Given the description of an element on the screen output the (x, y) to click on. 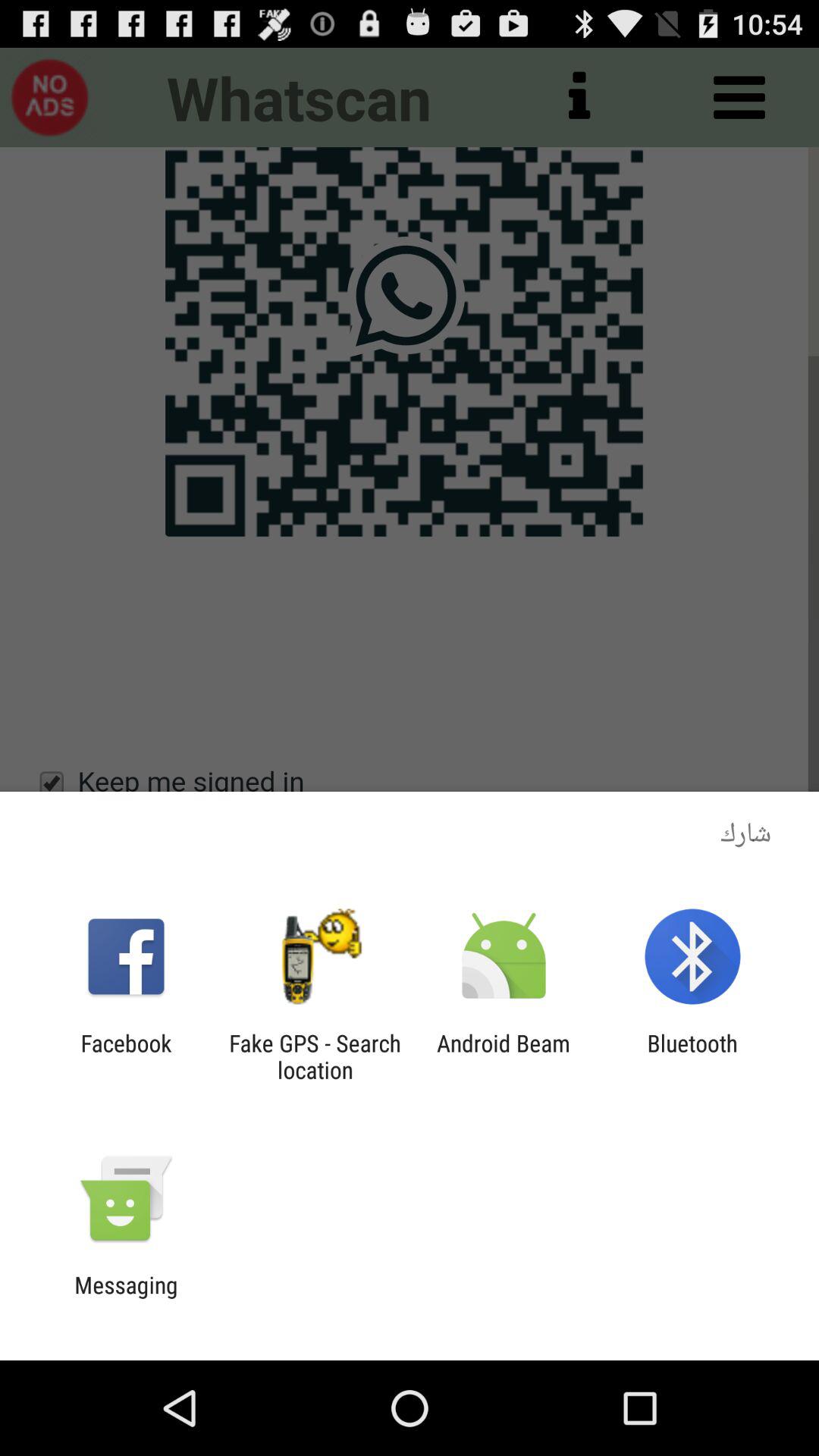
press android beam item (503, 1056)
